Given the description of an element on the screen output the (x, y) to click on. 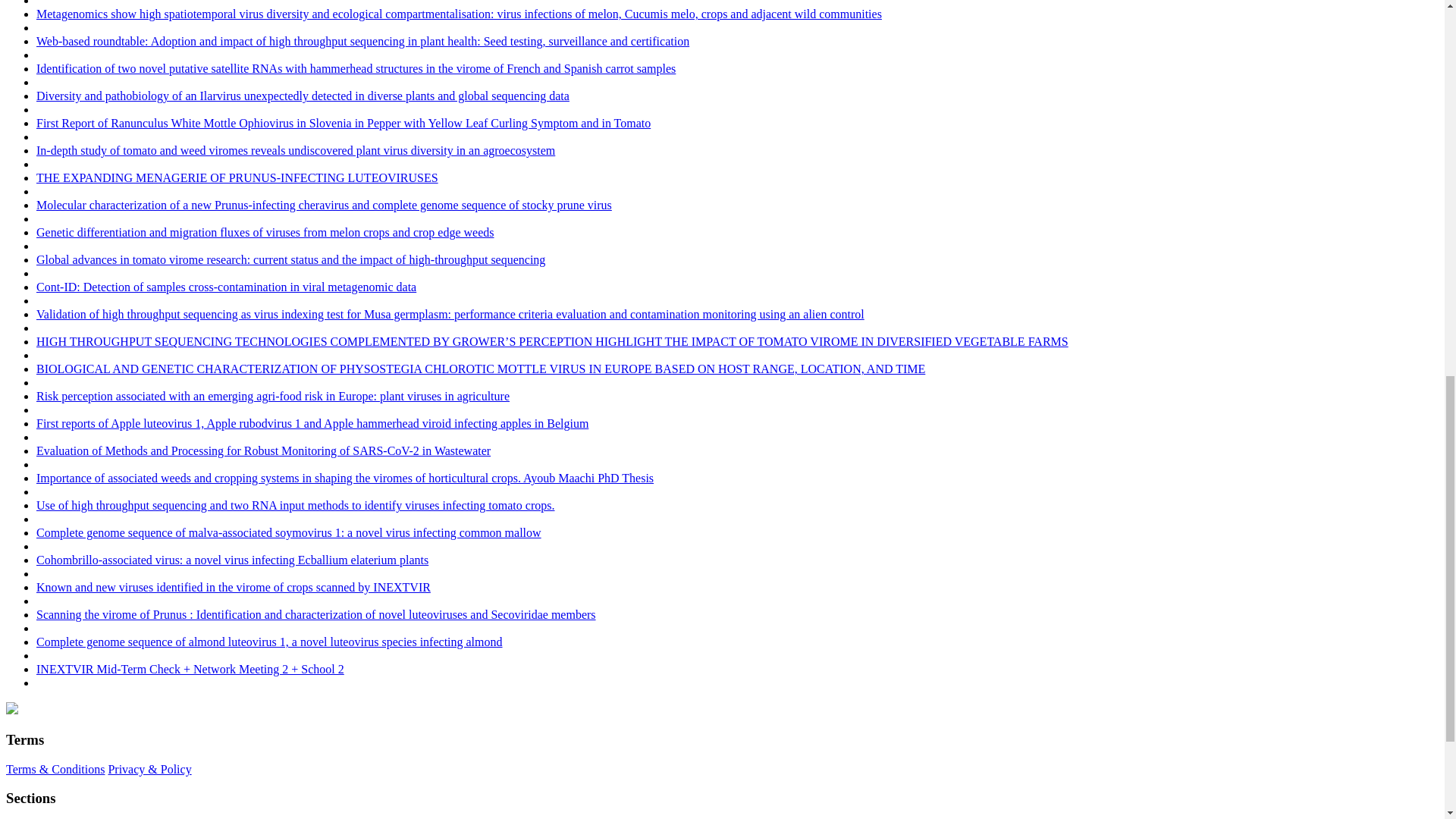
THE EXPANDING MENAGERIE OF PRUNUS-INFECTING LUTEOVIRUSES (237, 177)
